Given the description of an element on the screen output the (x, y) to click on. 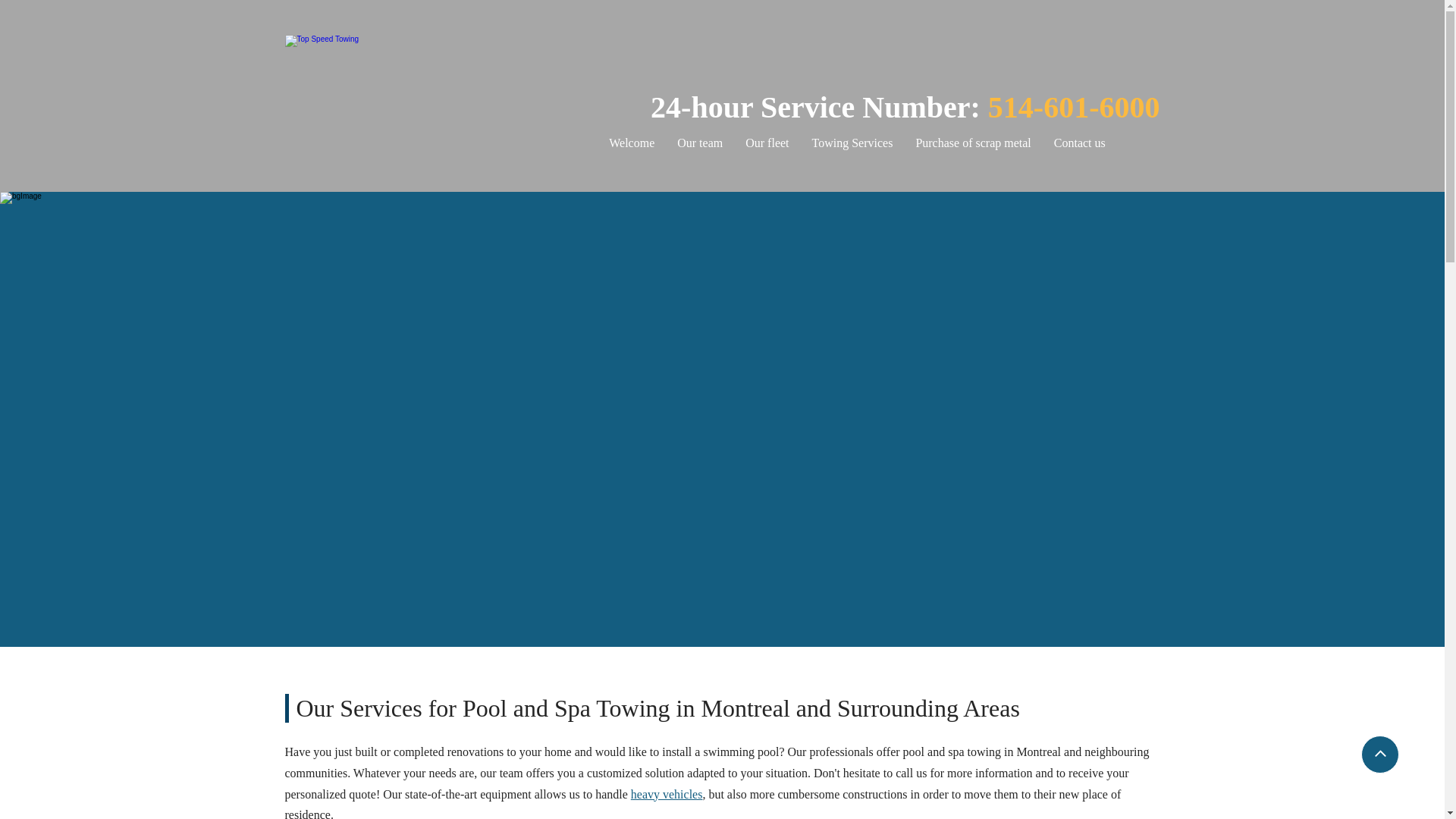
Contact us (1079, 143)
514-601-6000 (1074, 107)
Purchase of scrap metal (973, 143)
Our team (699, 143)
Our fleet (766, 143)
Welcome (630, 143)
heavy vehicles (666, 793)
